Given the description of an element on the screen output the (x, y) to click on. 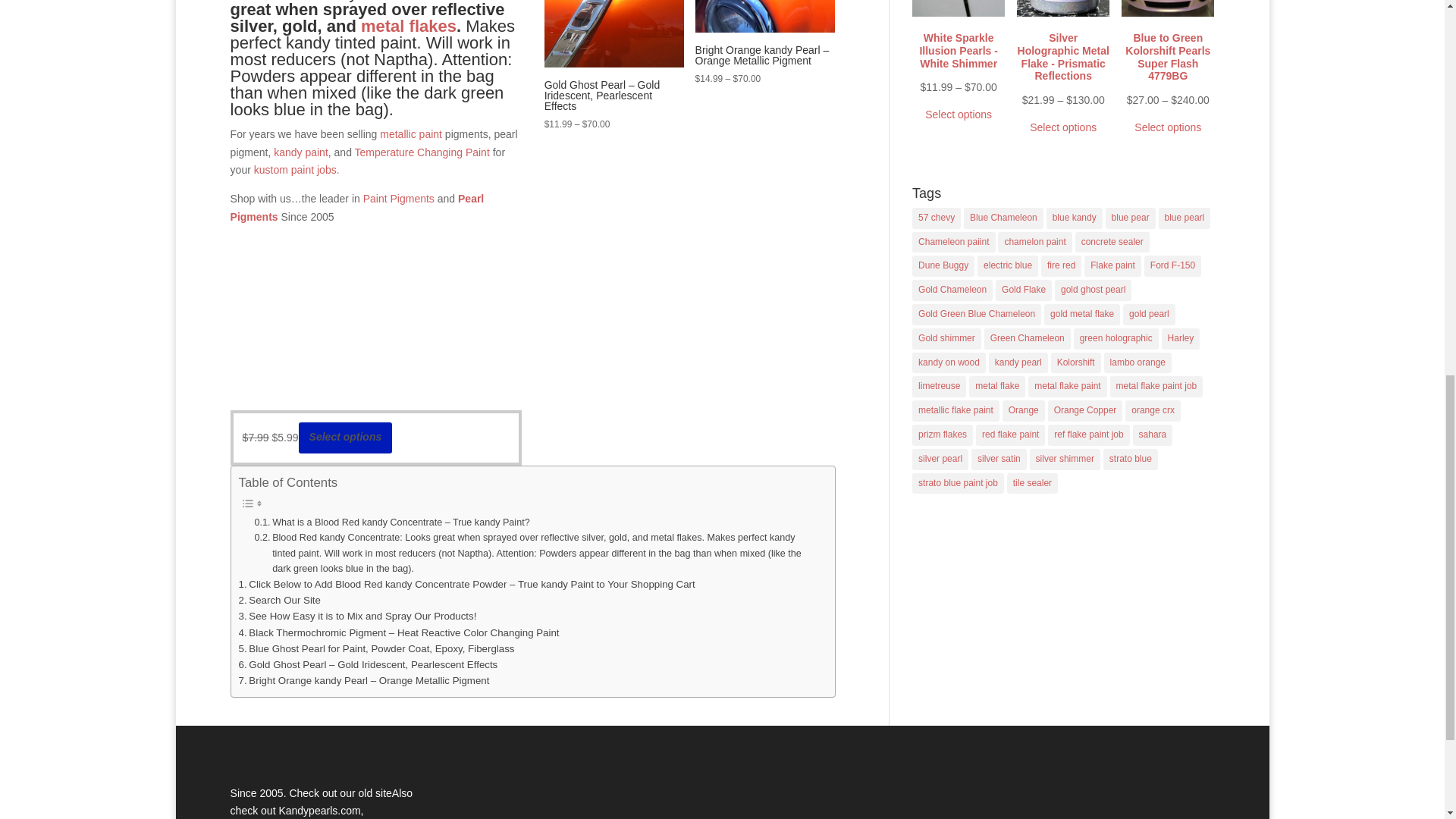
See How Easy it is to Mix and Spray Our Products! (357, 616)
Blood Red kandy Concentrate Powder - True kandy Paint 4 (764, 16)
Blue Ghost Pearl for Paint, Powder Coat, Epoxy, Fiberglass (376, 648)
Blood Red kandy Concentrate Powder - True kandy Paint 3 (614, 33)
Search Our Site (279, 600)
